Given the description of an element on the screen output the (x, y) to click on. 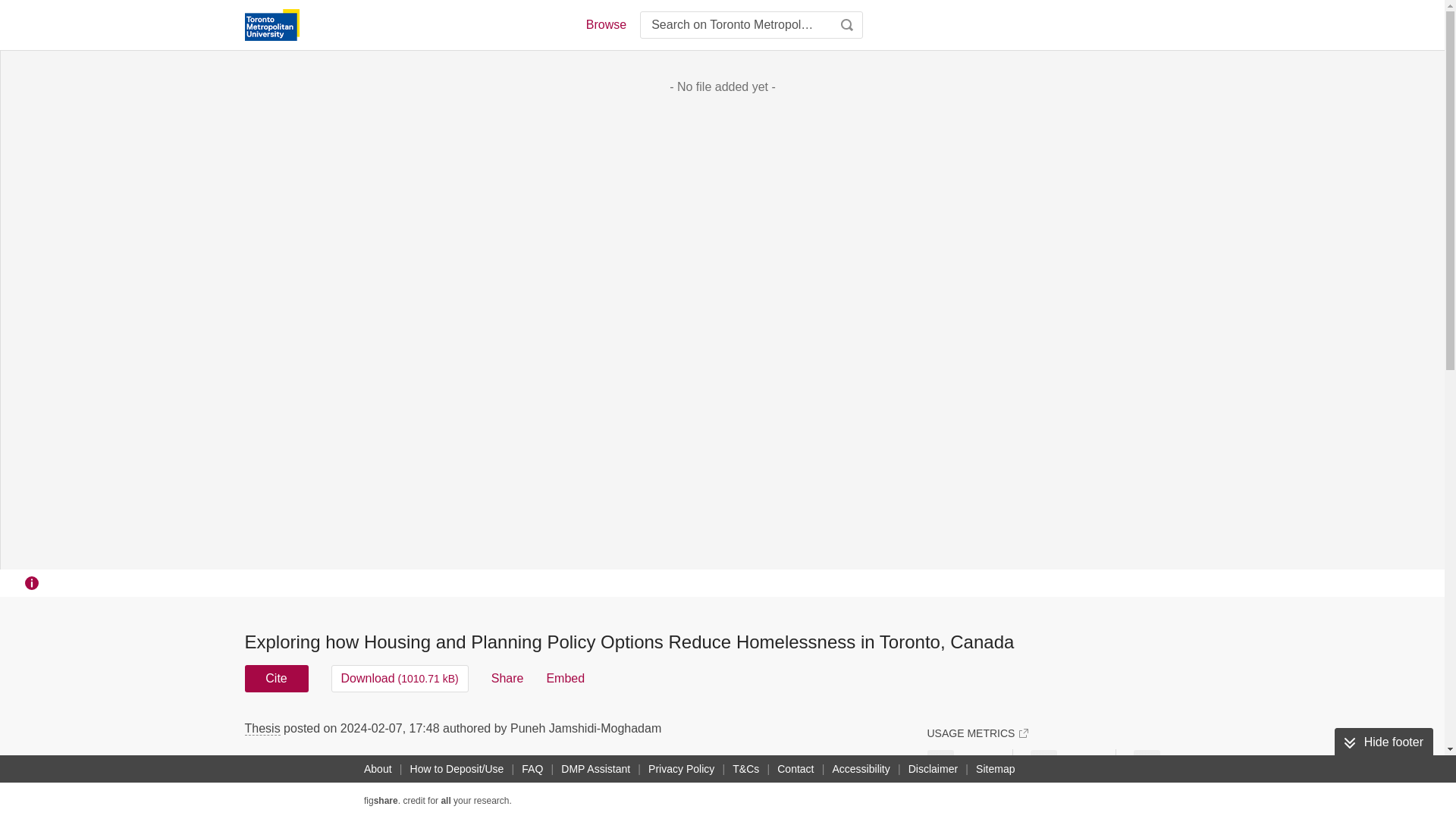
Hide footer (1383, 742)
Sitemap (995, 769)
DMP Assistant (595, 769)
FAQ (531, 769)
Share (508, 678)
Privacy Policy (681, 769)
Contact (795, 769)
USAGE METRICS (976, 732)
Browse (605, 24)
About (377, 769)
Accessibility (861, 769)
Embed (565, 678)
Cite (275, 678)
Disclaimer (933, 769)
